Given the description of an element on the screen output the (x, y) to click on. 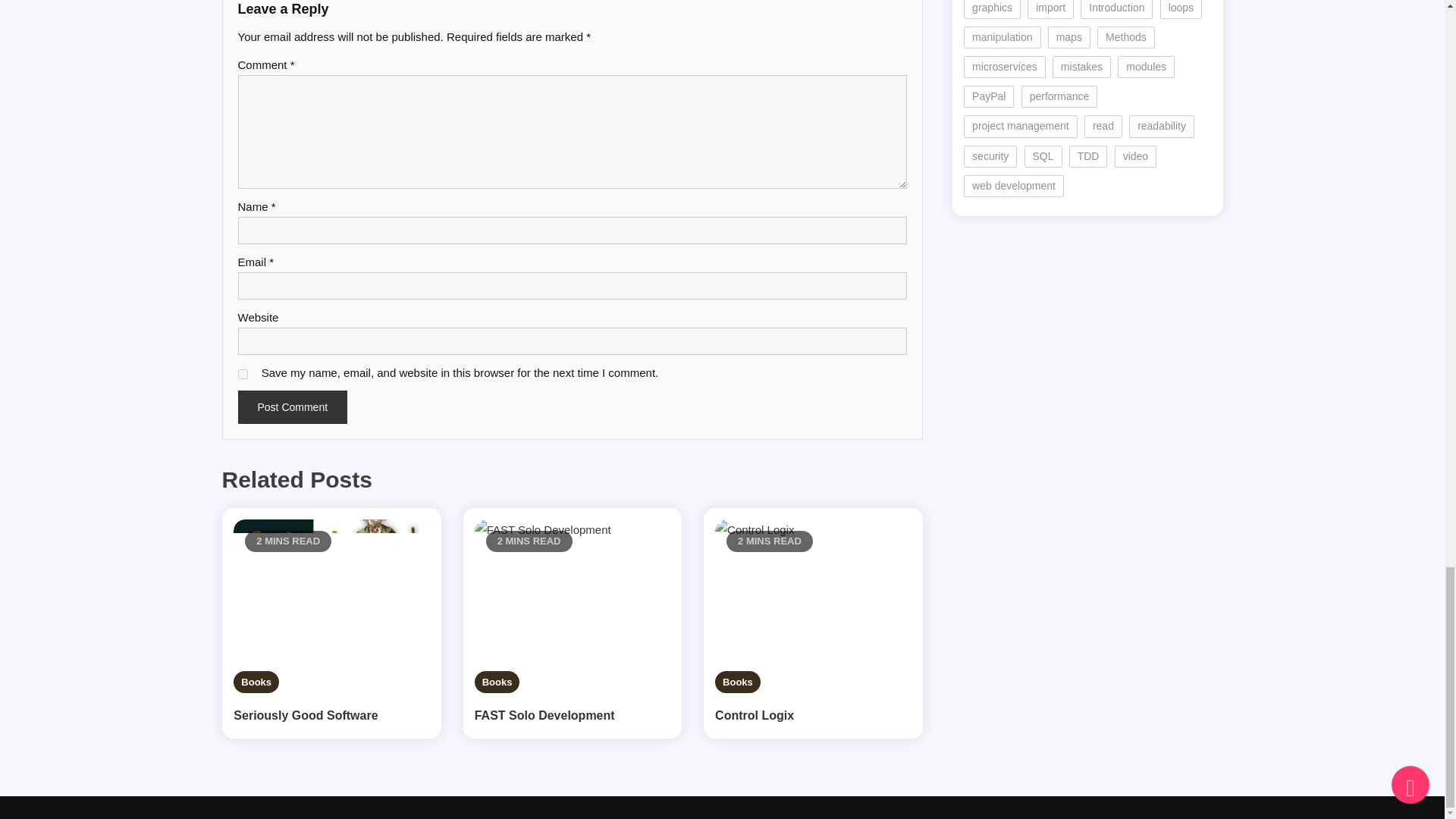
Post Comment (292, 407)
Seriously Good Software (330, 715)
Books (737, 681)
yes (242, 374)
Control Logix (812, 715)
Post Comment (292, 407)
Books (496, 681)
FAST Solo Development (572, 715)
Books (255, 681)
